Given the description of an element on the screen output the (x, y) to click on. 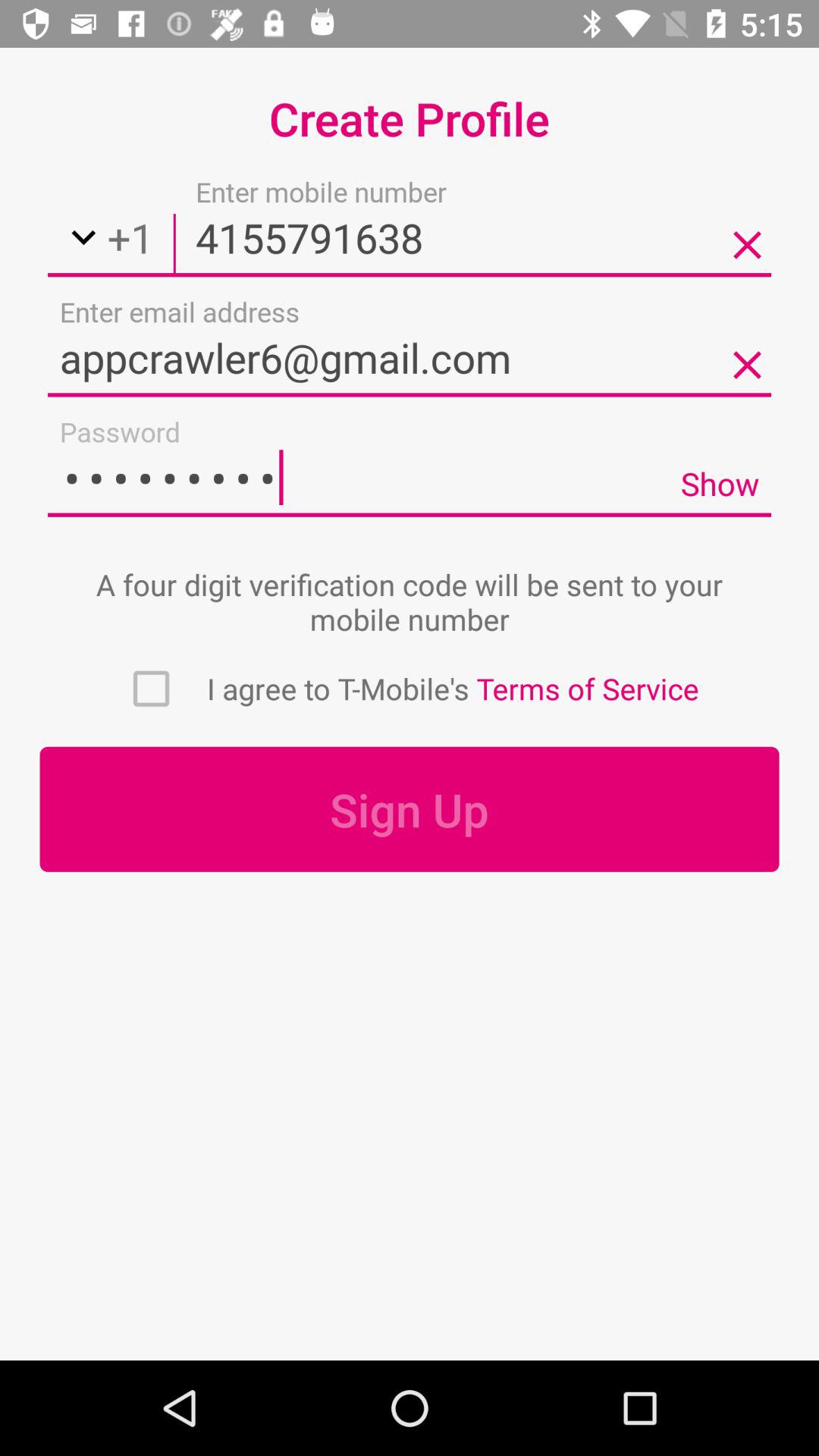
appcrawler6 gmail.com (409, 357)
